Given the description of an element on the screen output the (x, y) to click on. 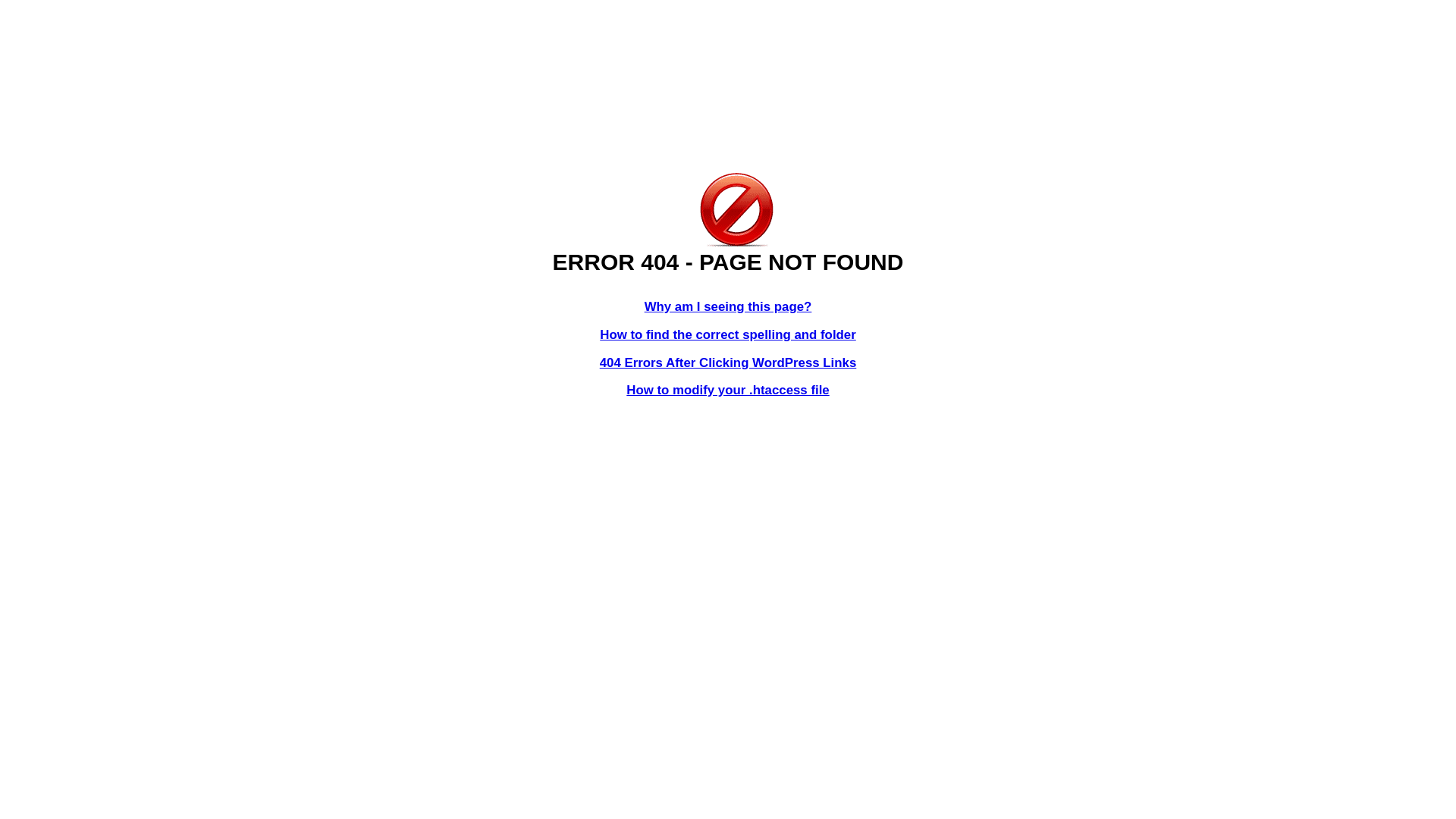
How to find the correct spelling and folder Element type: text (727, 334)
Why am I seeing this page? Element type: text (728, 306)
404 Errors After Clicking WordPress Links Element type: text (727, 362)
How to modify your .htaccess file Element type: text (727, 389)
